Given the description of an element on the screen output the (x, y) to click on. 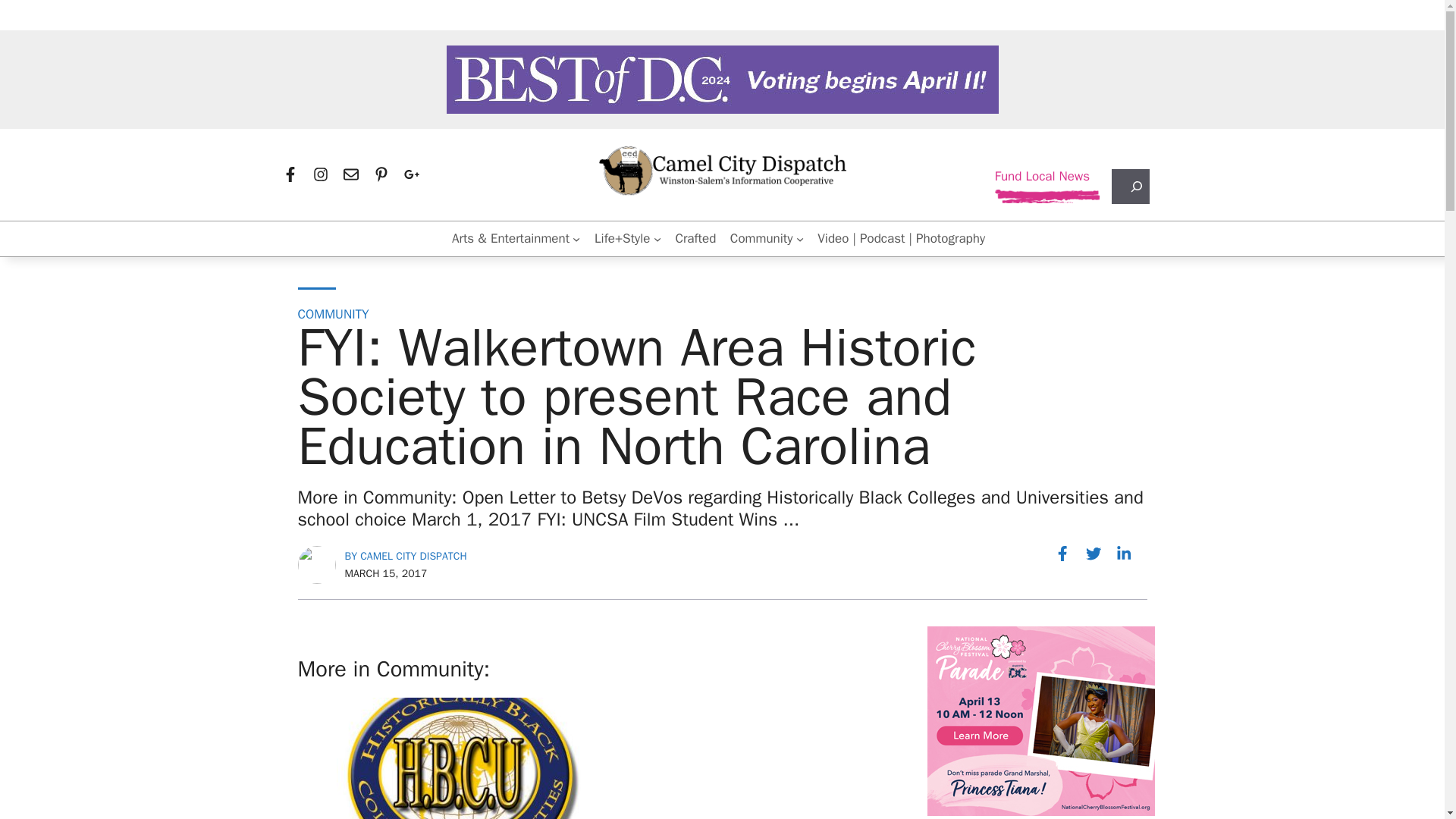
scribble-1 (1047, 196)
Fund Local News (1041, 176)
15544783424769106402 (1040, 720)
